Given the description of an element on the screen output the (x, y) to click on. 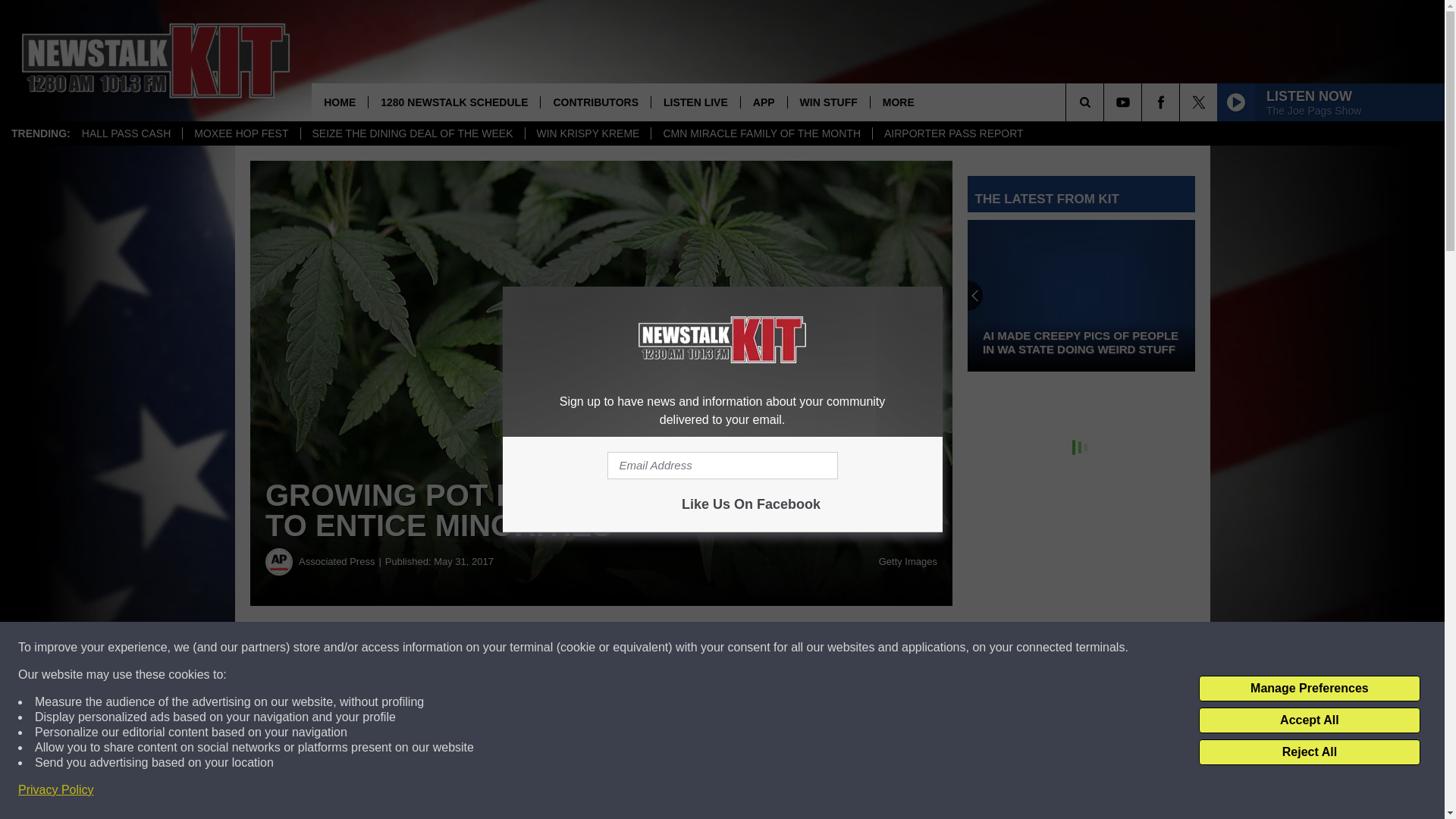
HOME (339, 102)
SEIZE THE DINING DEAL OF THE WEEK (411, 133)
Reject All (1309, 751)
SEARCH (1106, 102)
1280 NEWSTALK SCHEDULE (454, 102)
Share on Facebook (460, 647)
HALL PASS CASH (126, 133)
LISTEN LIVE (694, 102)
AIRPORTER PASS REPORT (953, 133)
WIN KRISPY KREME (587, 133)
MOXEE HOP FEST (240, 133)
Email Address (722, 465)
Accept All (1309, 720)
Manage Preferences (1309, 688)
Privacy Policy (55, 789)
